Given the description of an element on the screen output the (x, y) to click on. 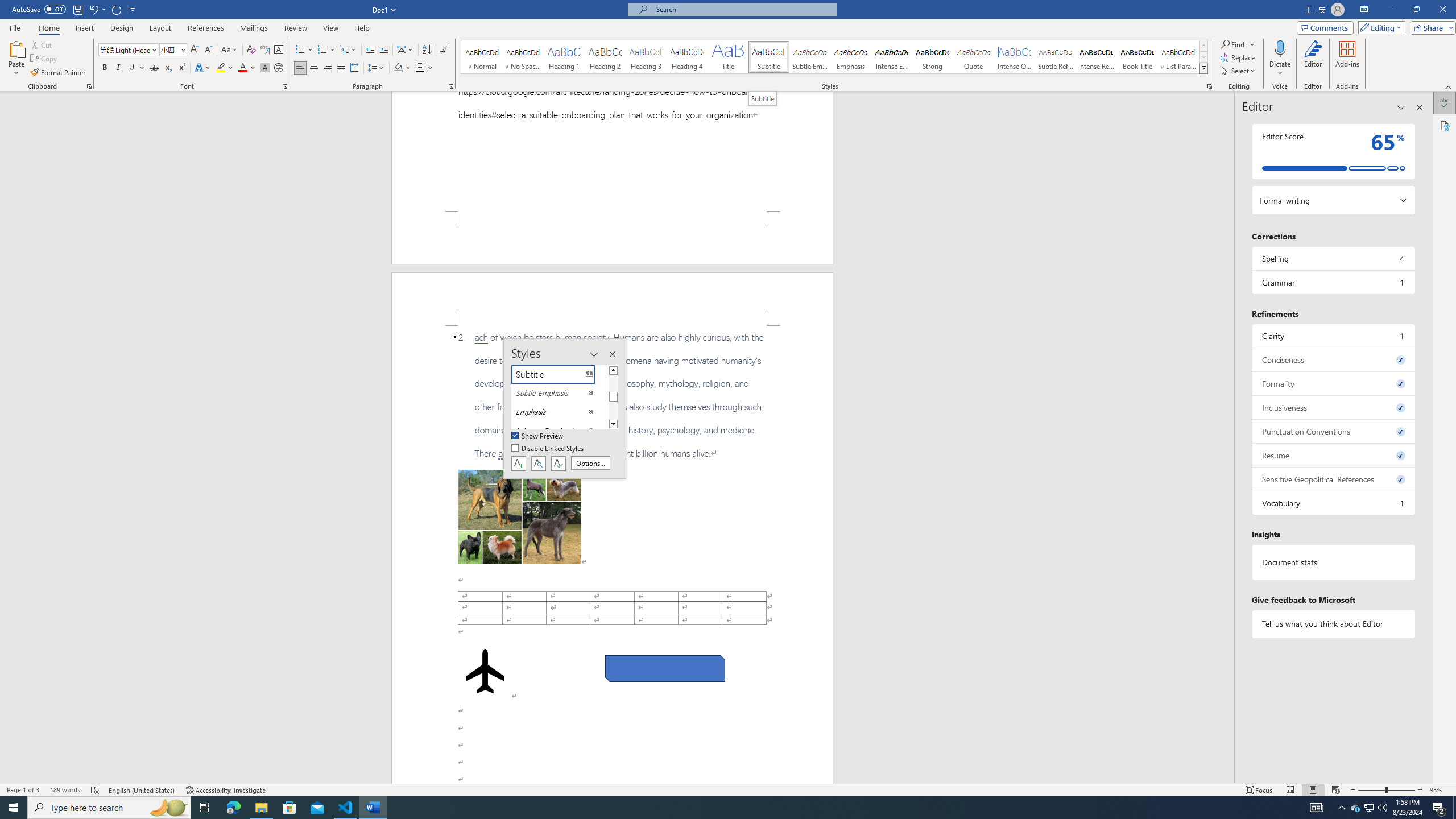
Undo Apply Quick Style (96, 9)
Clarity, 1 issue. Press space or enter to review items. (1333, 335)
Dictate (1280, 48)
Find (1237, 44)
Conciseness, 0 issues. Press space or enter to review items. (1333, 359)
Shading RGB(0, 0, 0) (397, 67)
Text Effects and Typography (202, 67)
Subtitle (762, 98)
More Options (1280, 68)
Multilevel List (347, 49)
Spelling, 4 issues. Press space or enter to review items. (1333, 258)
Zoom (1386, 790)
Language English (United States) (141, 790)
Review (295, 28)
Page Number Page 1 of 3 (22, 790)
